Given the description of an element on the screen output the (x, y) to click on. 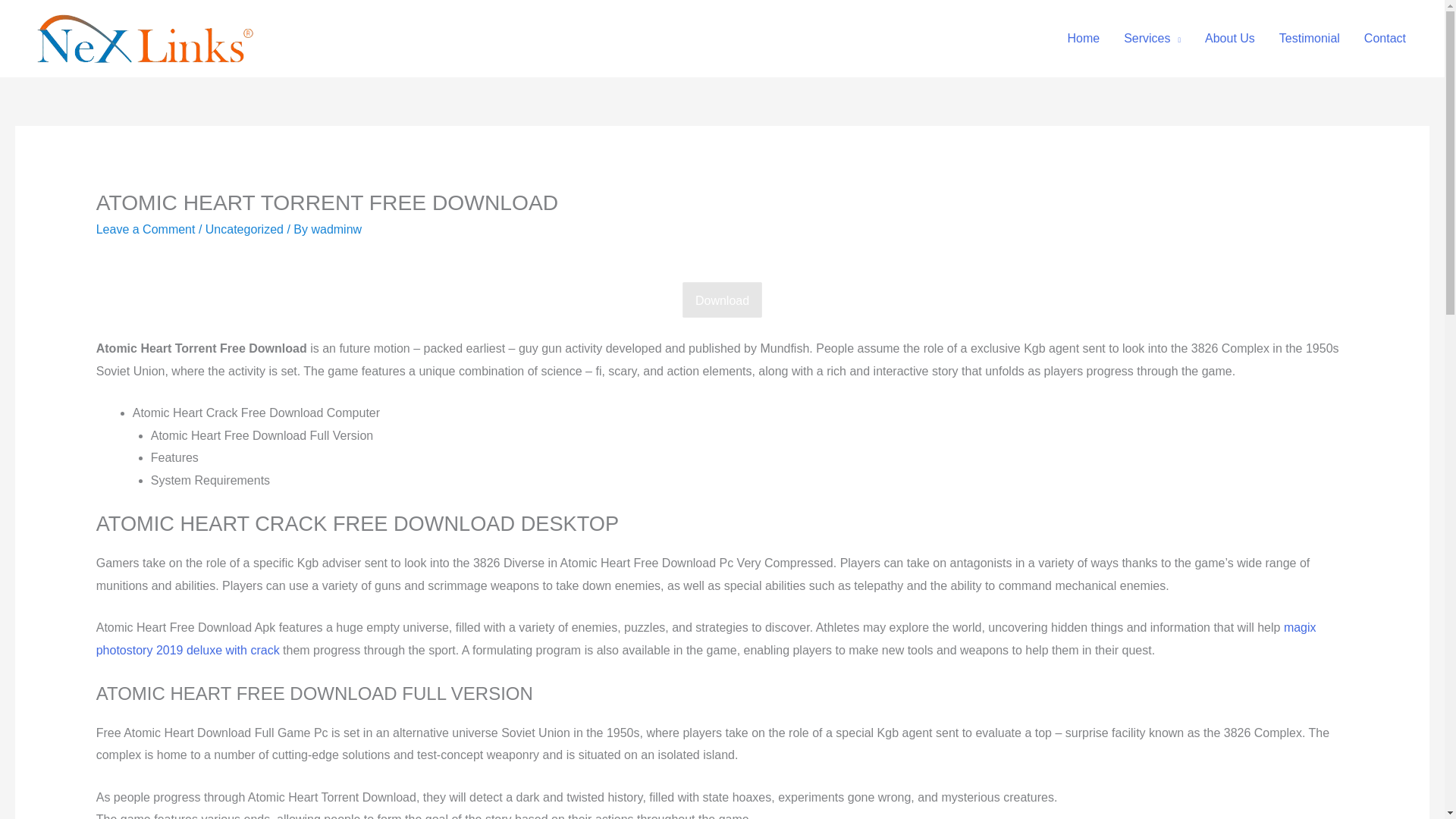
View all posts by wadminw (336, 228)
Leave a Comment (145, 228)
About Us (1229, 38)
Home (1083, 38)
wadminw (336, 228)
Download (721, 300)
Uncategorized (244, 228)
Contact (1385, 38)
Download (721, 299)
magix photostory 2019 deluxe with crack (706, 638)
